Given the description of an element on the screen output the (x, y) to click on. 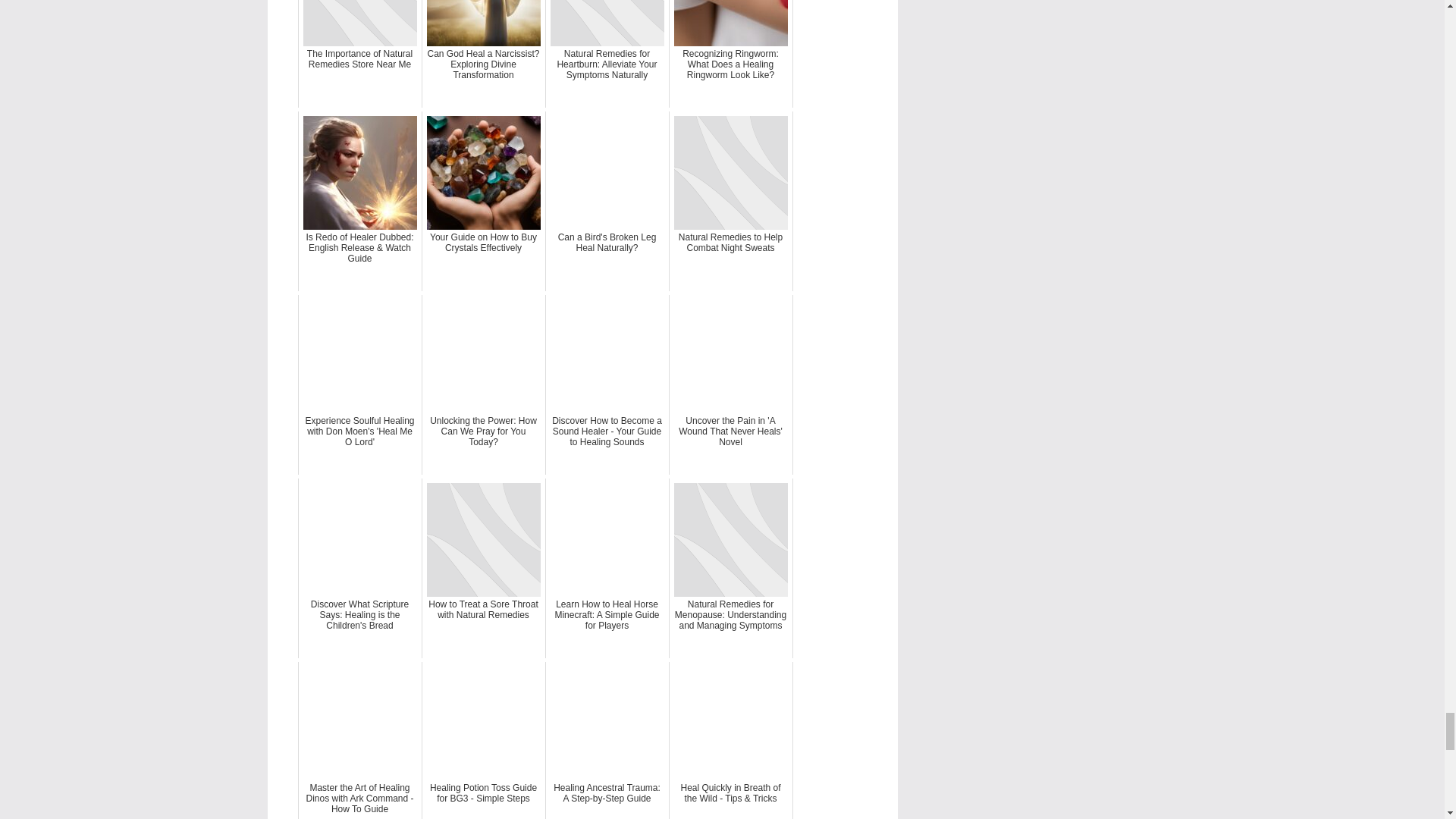
Can God Heal a Narcissist? Exploring Divine Transformation (484, 53)
The Importance of Natural Remedies Store Near Me (359, 53)
